Given the description of an element on the screen output the (x, y) to click on. 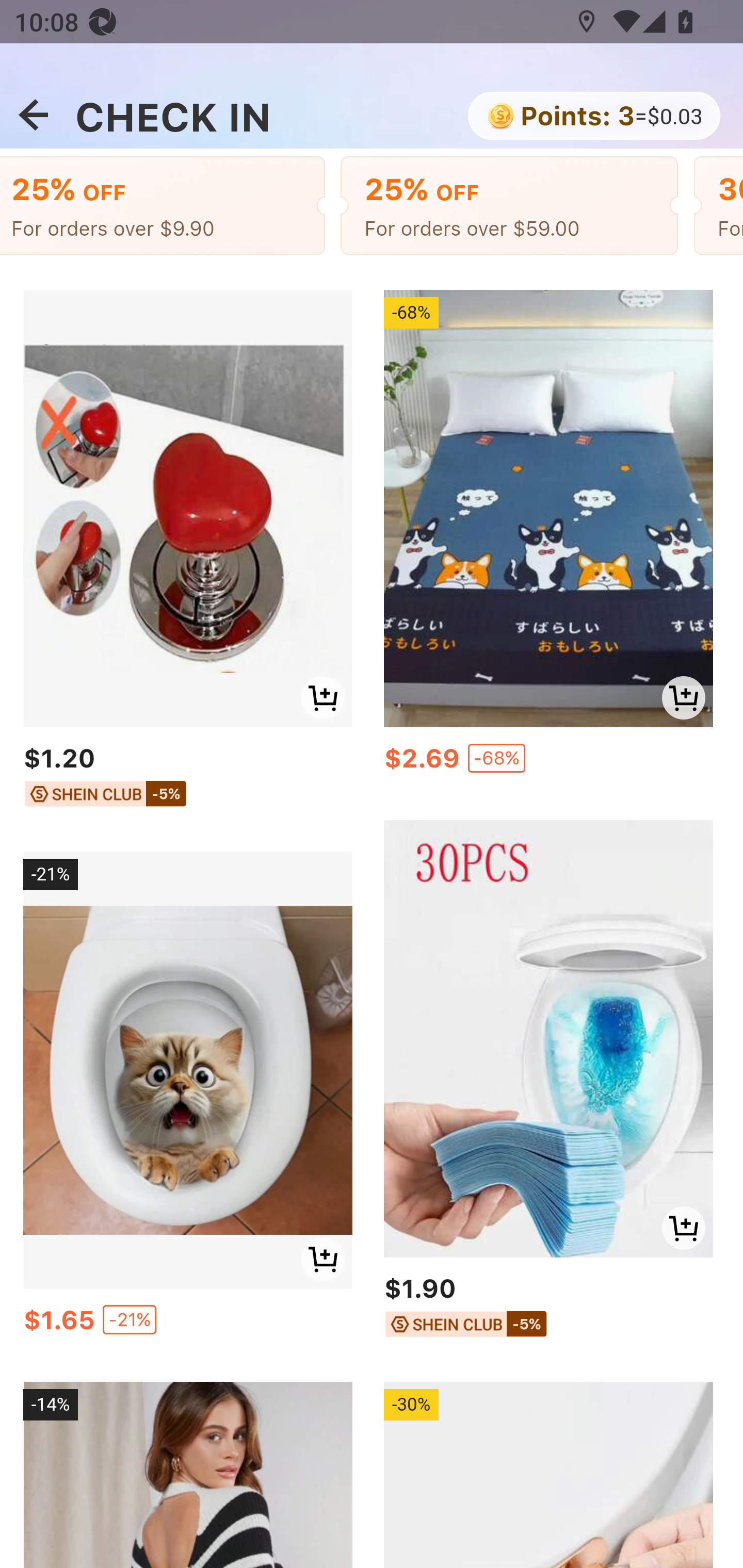
 (33, 115)
Points: 3=$0.03 (592, 117)
$1.20 sui_icon_paidmember_Label@3x-91f33d47f8 -5% (187, 780)
$2.69 -68% (548, 763)
$1.90 sui_icon_paidmember_Label@3x-91f33d47f8 -5% (548, 1308)
$1.65 -21% (187, 1324)
